Given the description of an element on the screen output the (x, y) to click on. 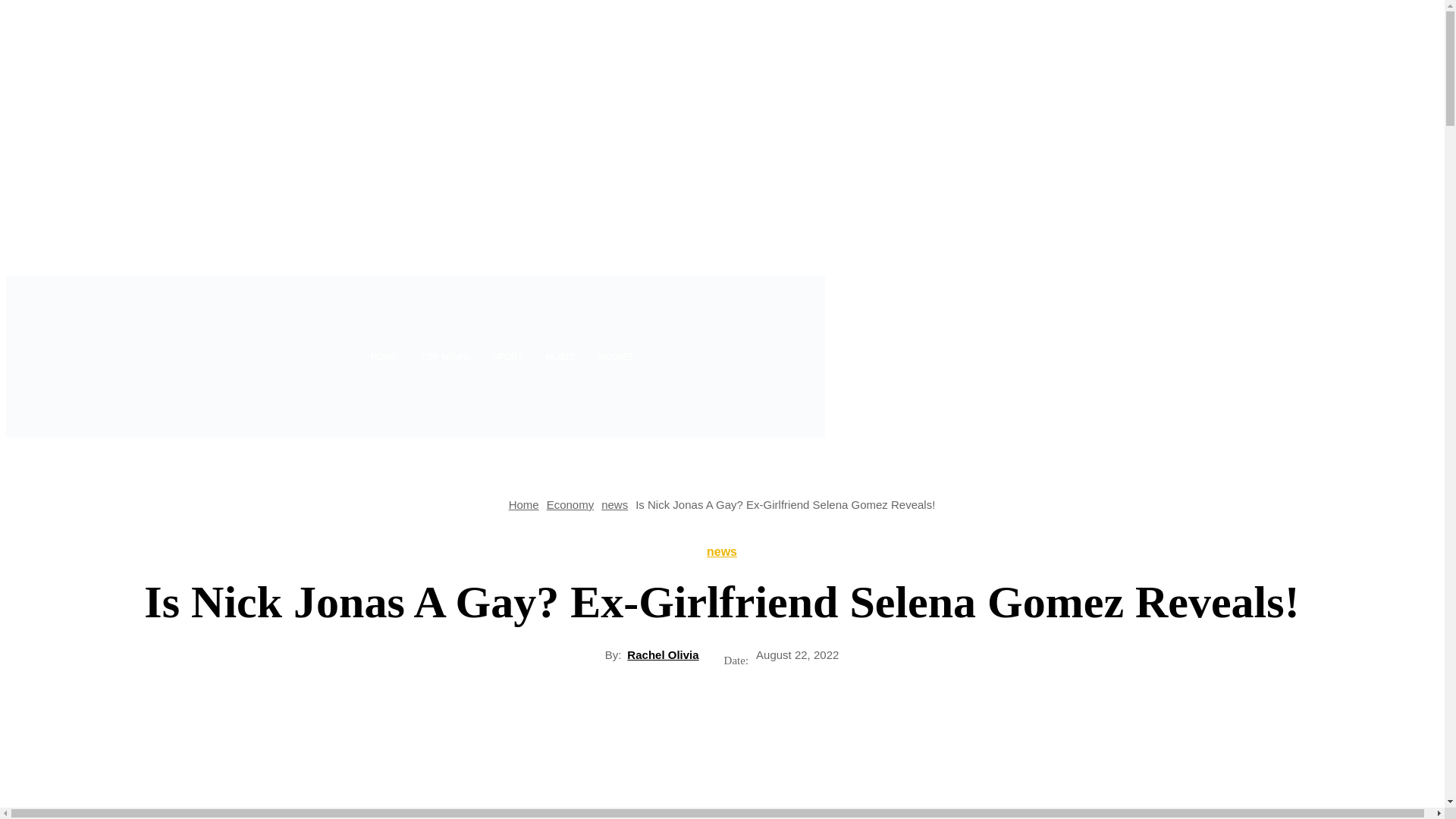
View all posts in Economy (570, 504)
Home (523, 504)
TOP NEWS (444, 356)
View all posts in news (614, 504)
Rachel Olivia (662, 653)
news (721, 551)
Economy (570, 504)
MOVIES (615, 356)
MUSIC (560, 356)
HOME (384, 356)
SPORT (507, 356)
news (614, 504)
